Given the description of an element on the screen output the (x, y) to click on. 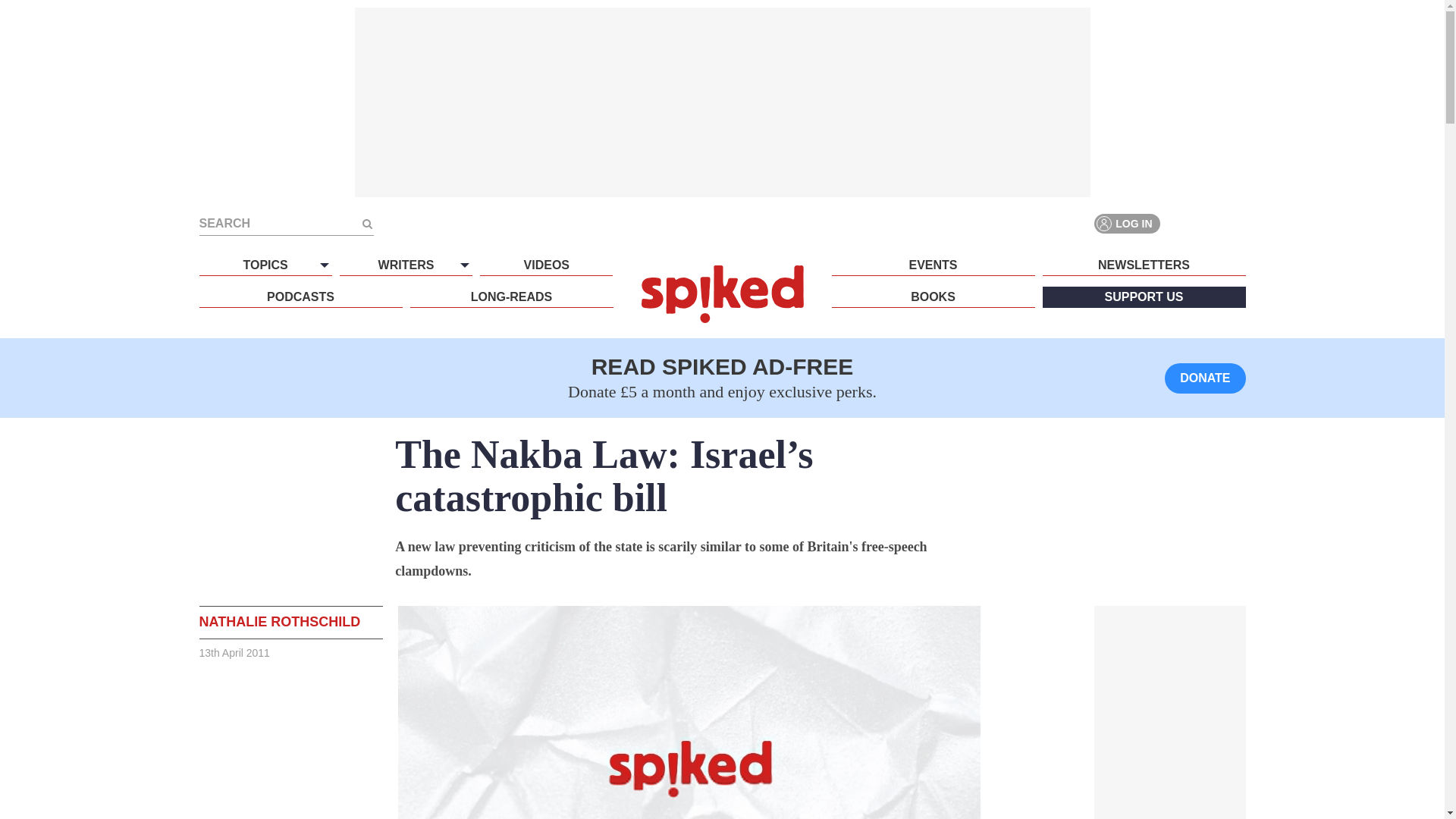
NEWSLETTERS (1143, 265)
PODCASTS (299, 296)
BOOKS (932, 296)
VIDEOS (546, 265)
WRITERS (405, 265)
YouTube (1234, 223)
spiked - humanity is underrated (722, 293)
LONG-READS (510, 296)
TOPICS (264, 265)
LOG IN (1126, 223)
Facebook (1180, 223)
SUPPORT US (1143, 296)
Twitter (1207, 223)
EVENTS (932, 265)
